Given the description of an element on the screen output the (x, y) to click on. 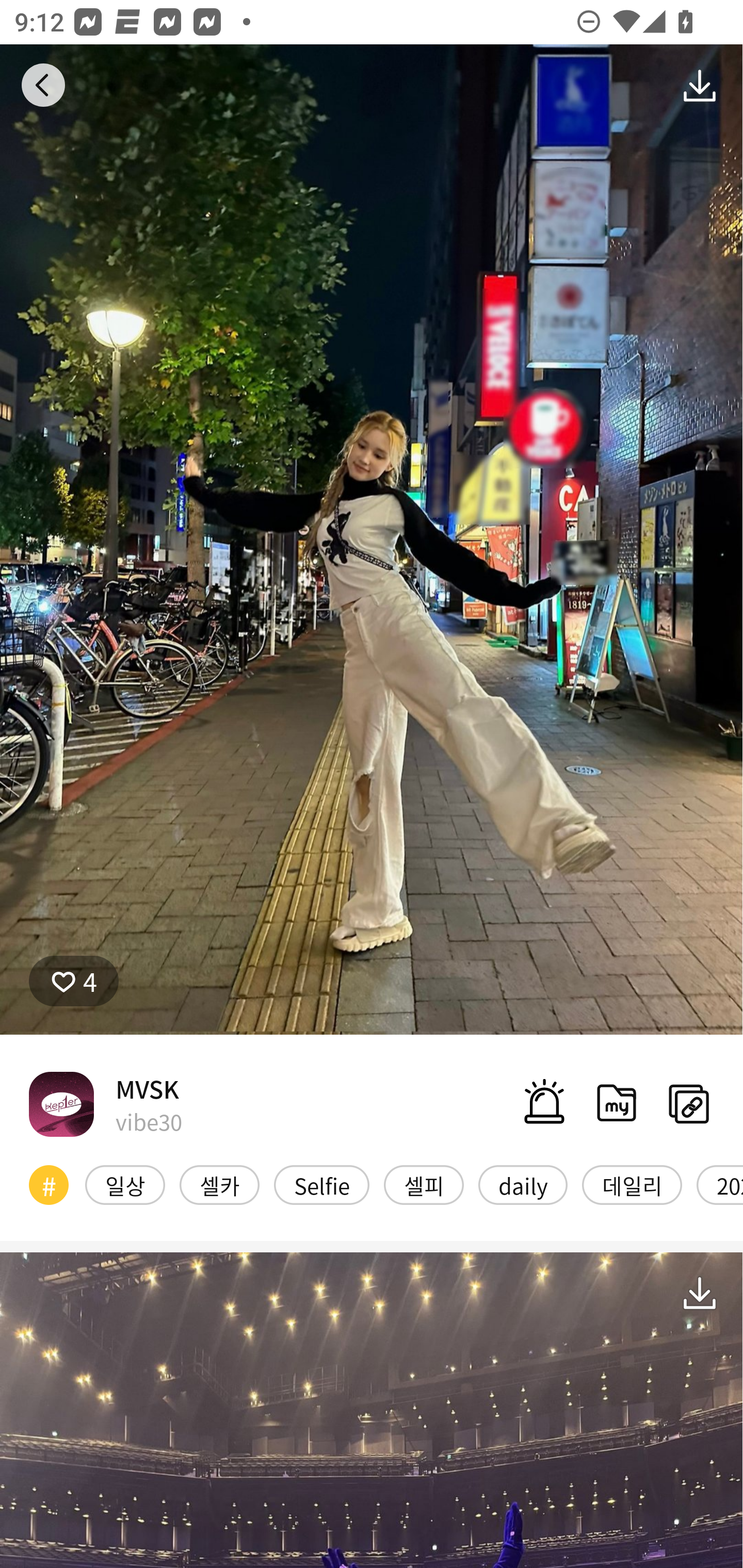
4 (73, 980)
MVSK vibe30 (105, 1103)
일상 (124, 1184)
셀카 (219, 1184)
Selfie (321, 1184)
셀피 (423, 1184)
daily (522, 1184)
데일리 (631, 1184)
